Given the description of an element on the screen output the (x, y) to click on. 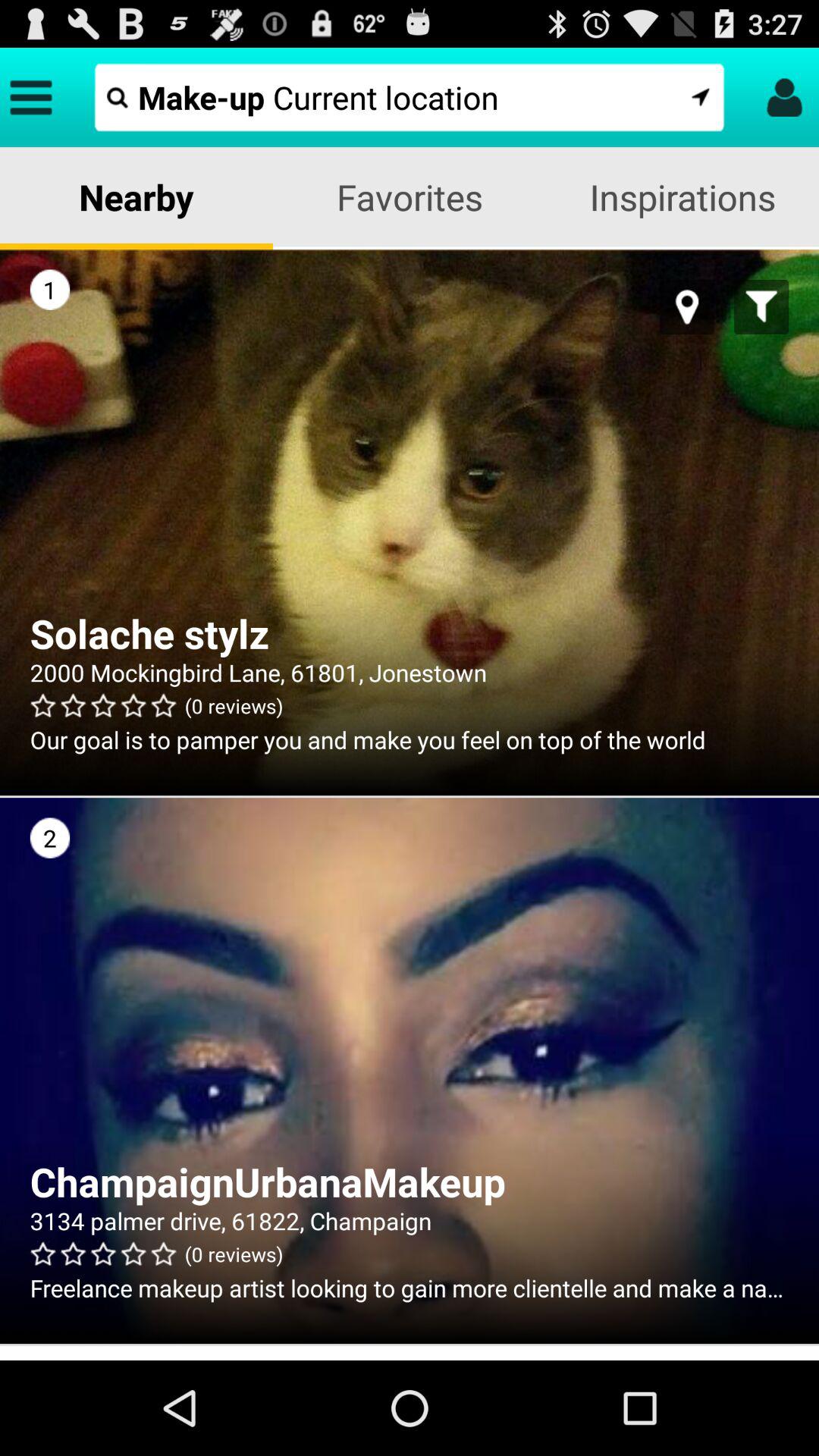
swipe to the 3134 palmer drive app (409, 1220)
